Given the description of an element on the screen output the (x, y) to click on. 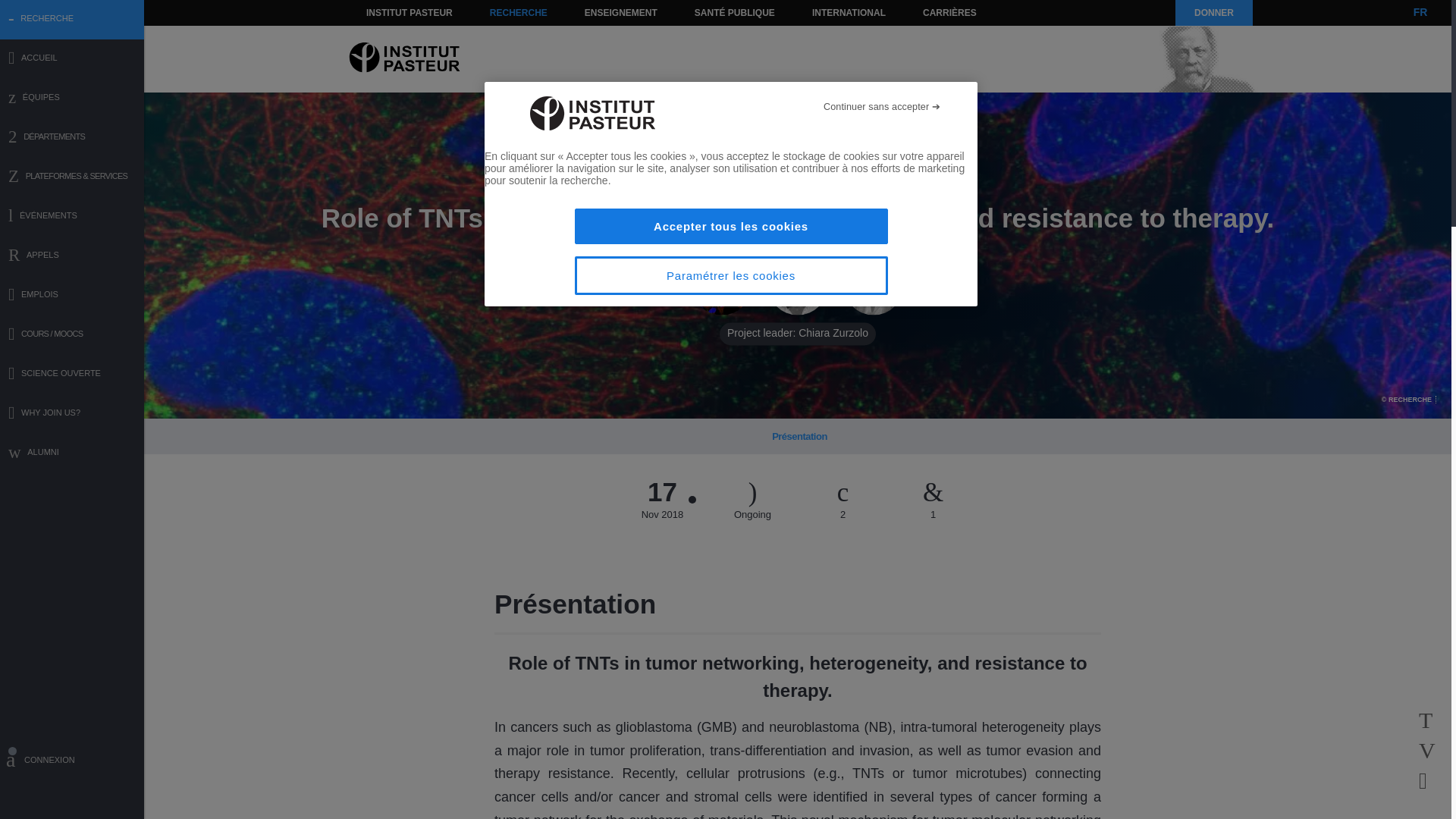
ACCUEIL (72, 59)
Aller au contenu (391, 11)
ENSEIGNEMENT (620, 12)
Aller au contenu (391, 11)
FR (1419, 11)
SCIENCE OUVERTE (72, 374)
WHY JOIN US? (72, 413)
INSTITUT PASTEUR (409, 12)
DONNER (1213, 12)
EMPLOIS (72, 296)
APPELS (72, 256)
CONNEXION (72, 762)
Project leader: Chiara Zurzolo (797, 283)
ALUMNI (72, 454)
RECHERCHE (518, 12)
